Given the description of an element on the screen output the (x, y) to click on. 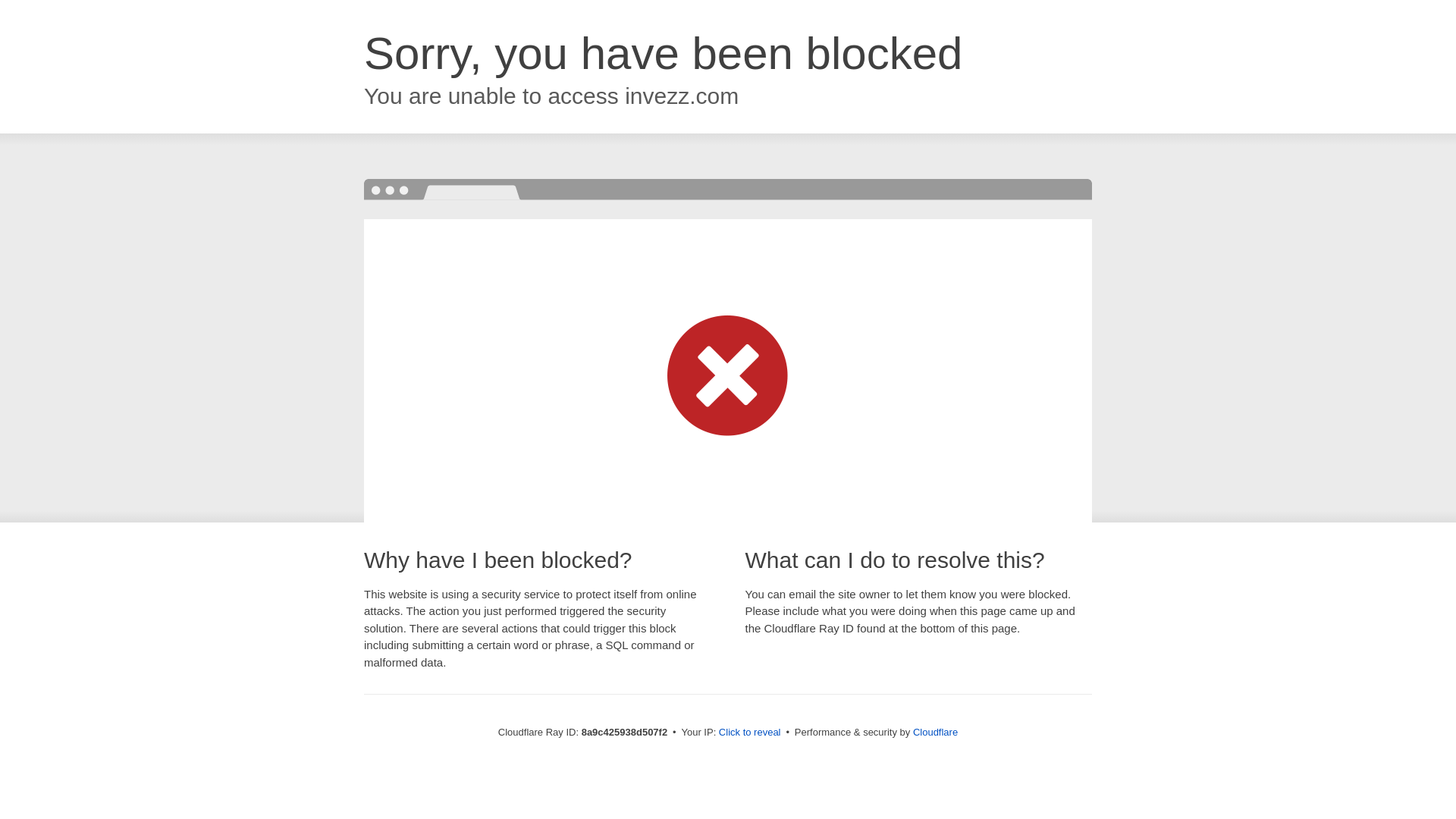
Click to reveal (749, 732)
Cloudflare (935, 731)
